Given the description of an element on the screen output the (x, y) to click on. 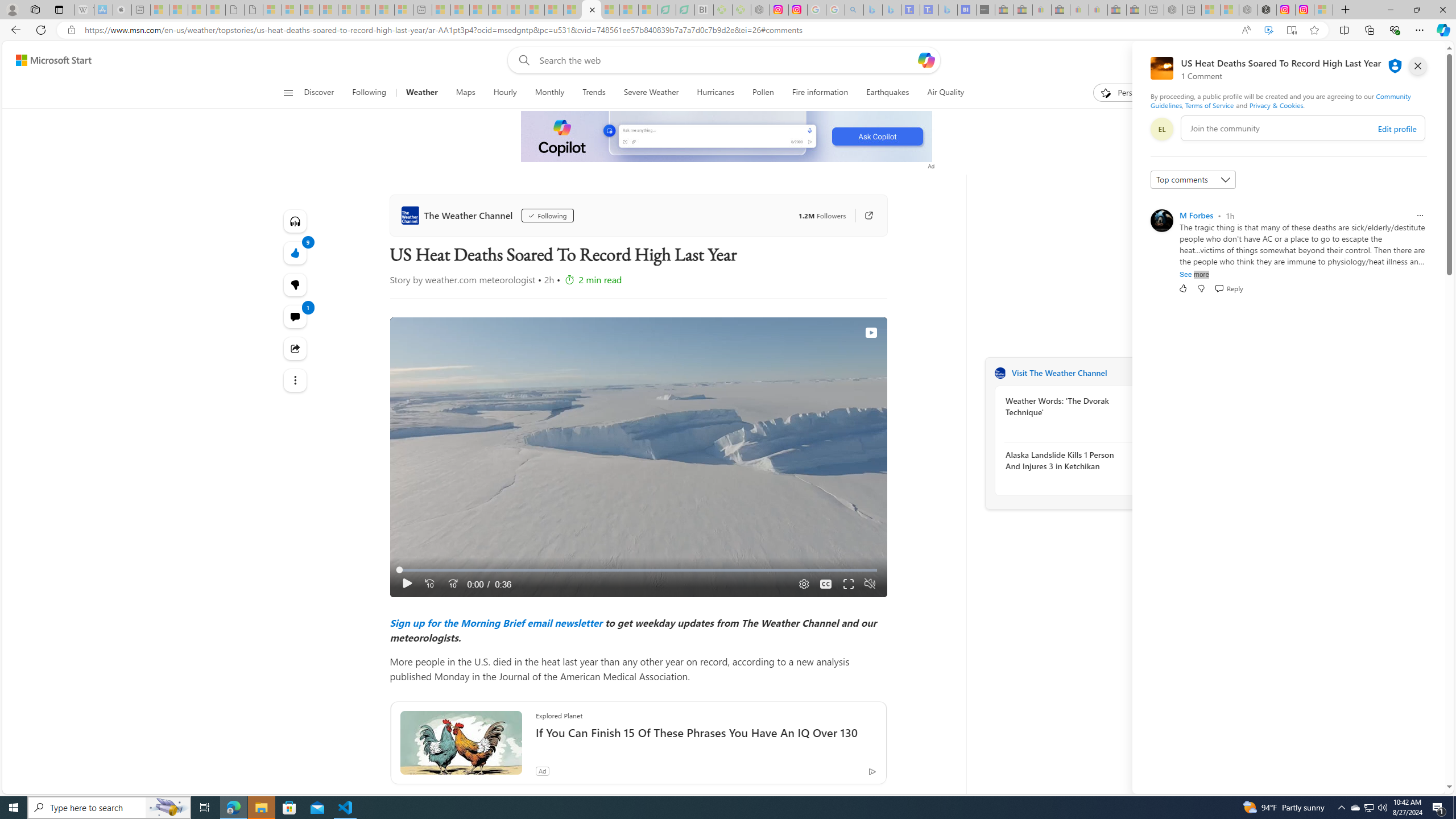
Food and Drink - MSN - Sleeping (497, 9)
US Heat Deaths Soared To Record High Last Year (590, 9)
Personalize (1128, 92)
Microsoft Services Agreement - Sleeping (290, 9)
To get missing image descriptions, open the context menu. (726, 136)
Maps (465, 92)
Trends (593, 92)
Earthquakes (888, 92)
Enter your search term (726, 59)
